Given the description of an element on the screen output the (x, y) to click on. 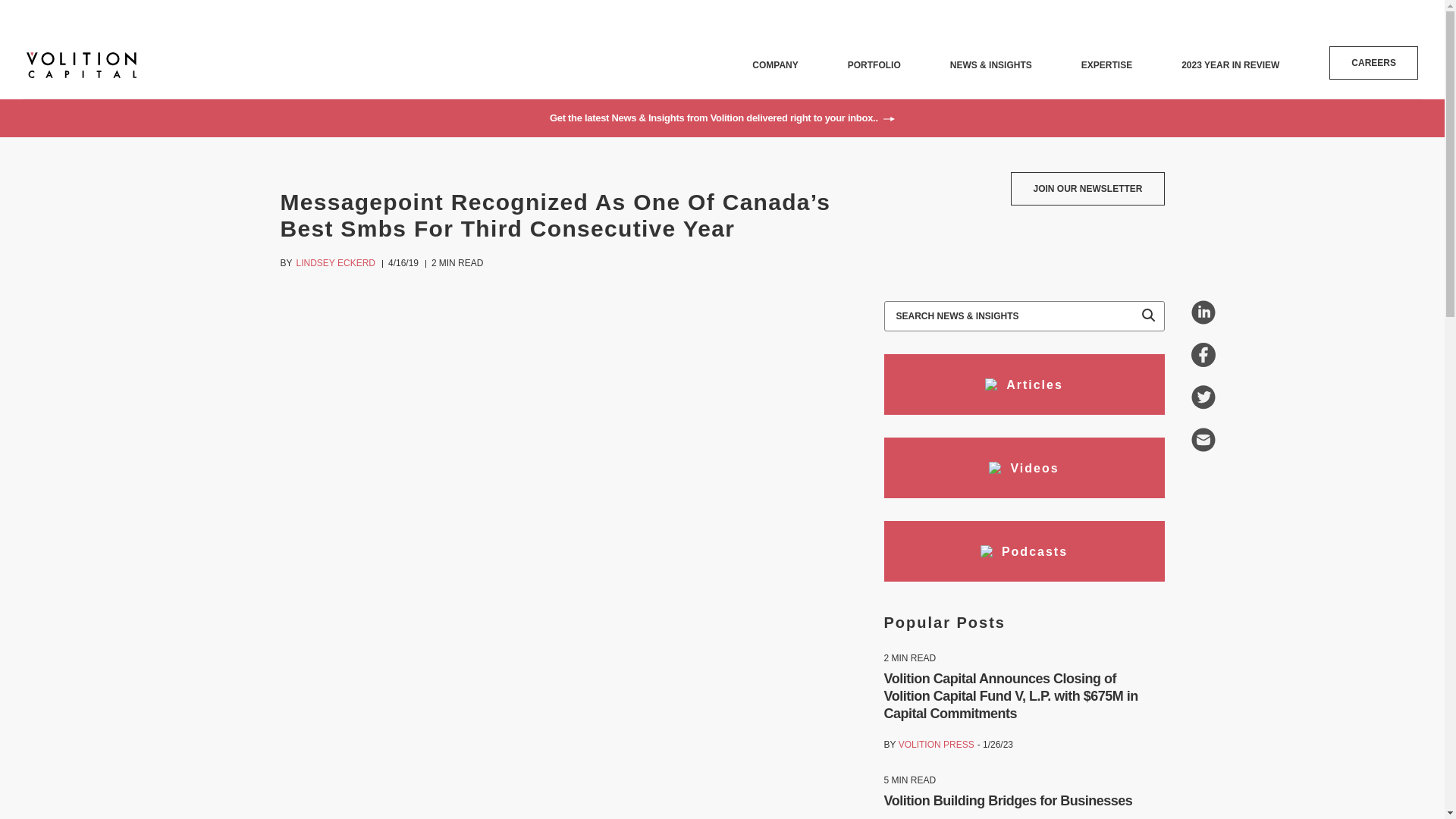
2023 YEAR IN REVIEW (1229, 63)
Podcasts (1023, 550)
Volition Building Bridges for Businesses (1007, 800)
VOLITION PRESS (936, 744)
EXPERTISE (1106, 63)
PORTFOLIO (874, 63)
LINDSEY ECKERD (336, 262)
CAREERS (1373, 62)
Videos (1023, 467)
JOIN OUR NEWSLETTER (1086, 188)
